Given the description of an element on the screen output the (x, y) to click on. 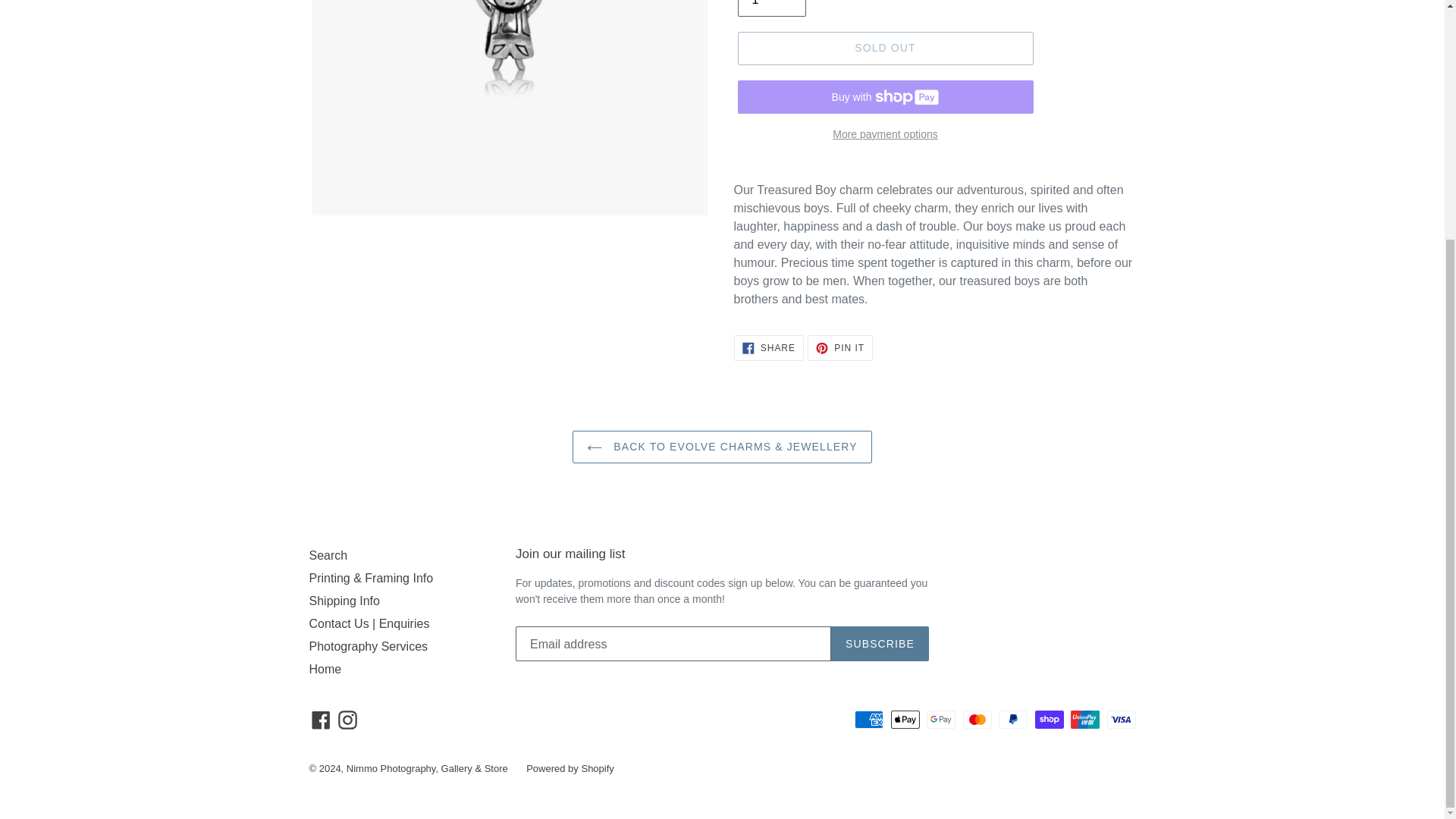
1 (770, 8)
